Given the description of an element on the screen output the (x, y) to click on. 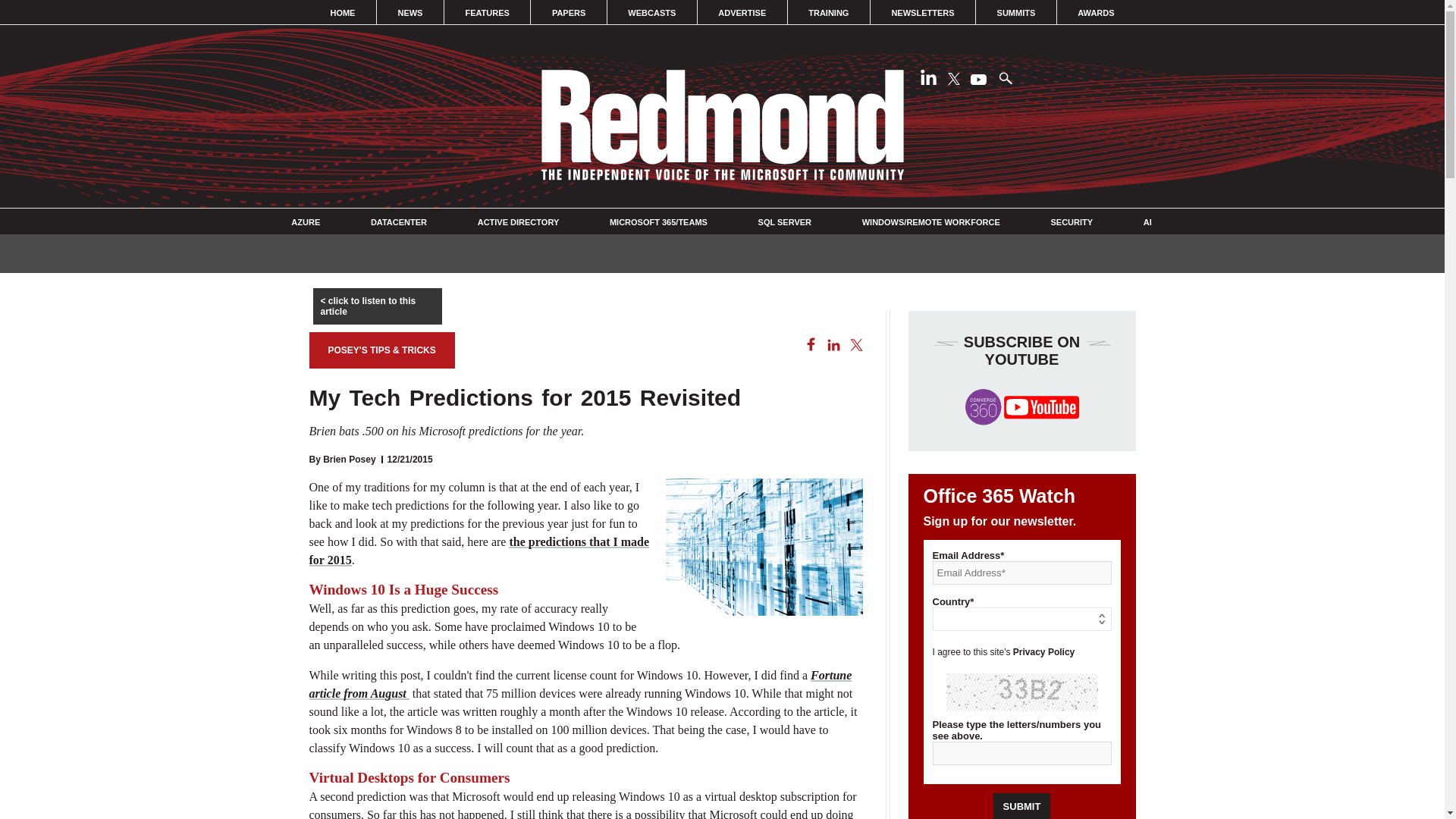
Submit (1021, 806)
WEBCASTS (651, 12)
AI (1146, 221)
the predictions that I made for 2015 (478, 550)
NEWS (409, 12)
HOME (342, 12)
FEATURES (487, 12)
AWARDS (1096, 12)
Brien Posey (349, 459)
AZURE (305, 221)
